Given the description of an element on the screen output the (x, y) to click on. 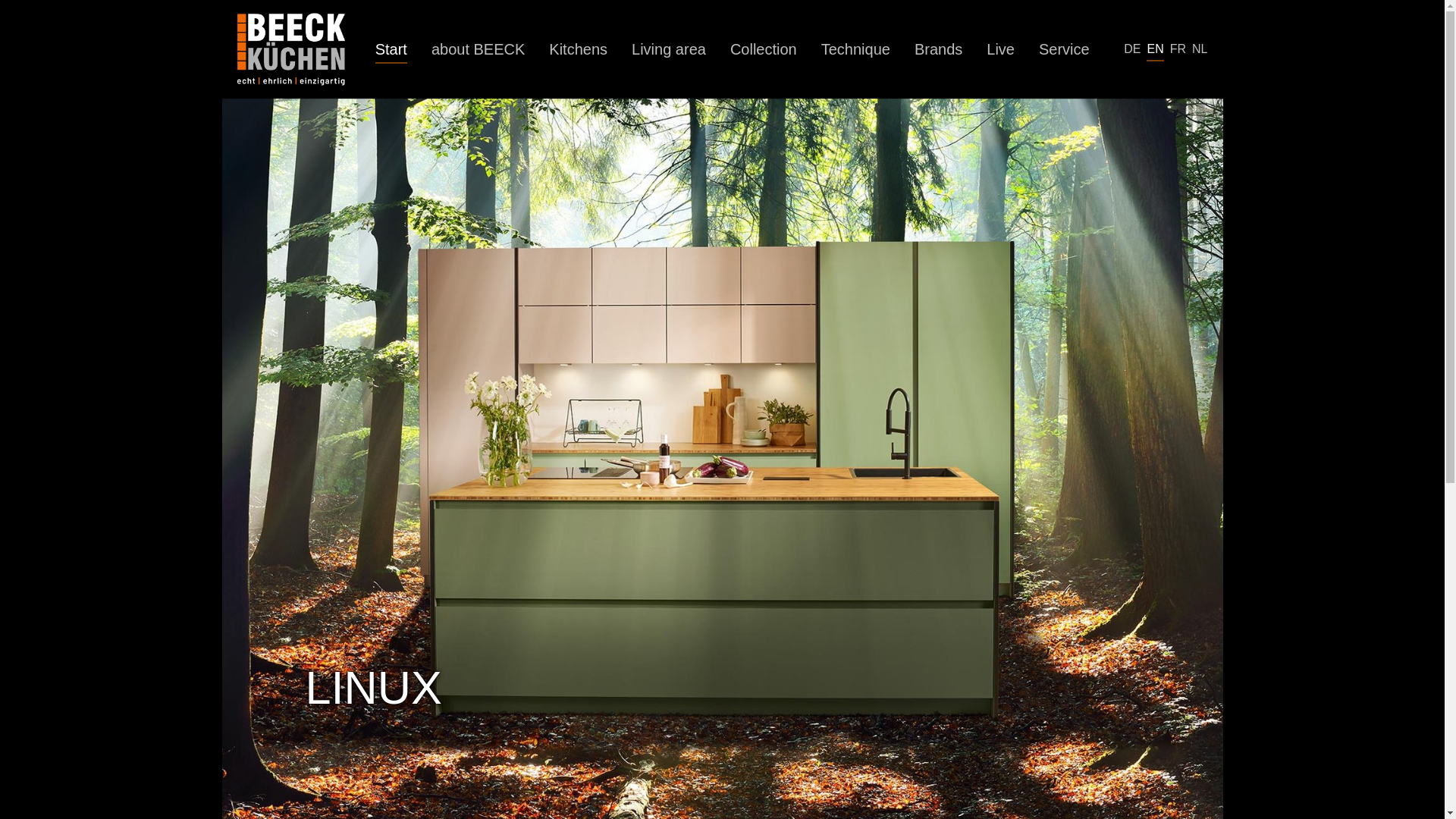
Live (1000, 48)
Living area (668, 48)
Collection (763, 48)
Living area (668, 48)
Technique (855, 48)
Collection (763, 48)
Kitchens (578, 48)
Brands (938, 48)
Brands (938, 48)
about BEECK (478, 48)
